Given the description of an element on the screen output the (x, y) to click on. 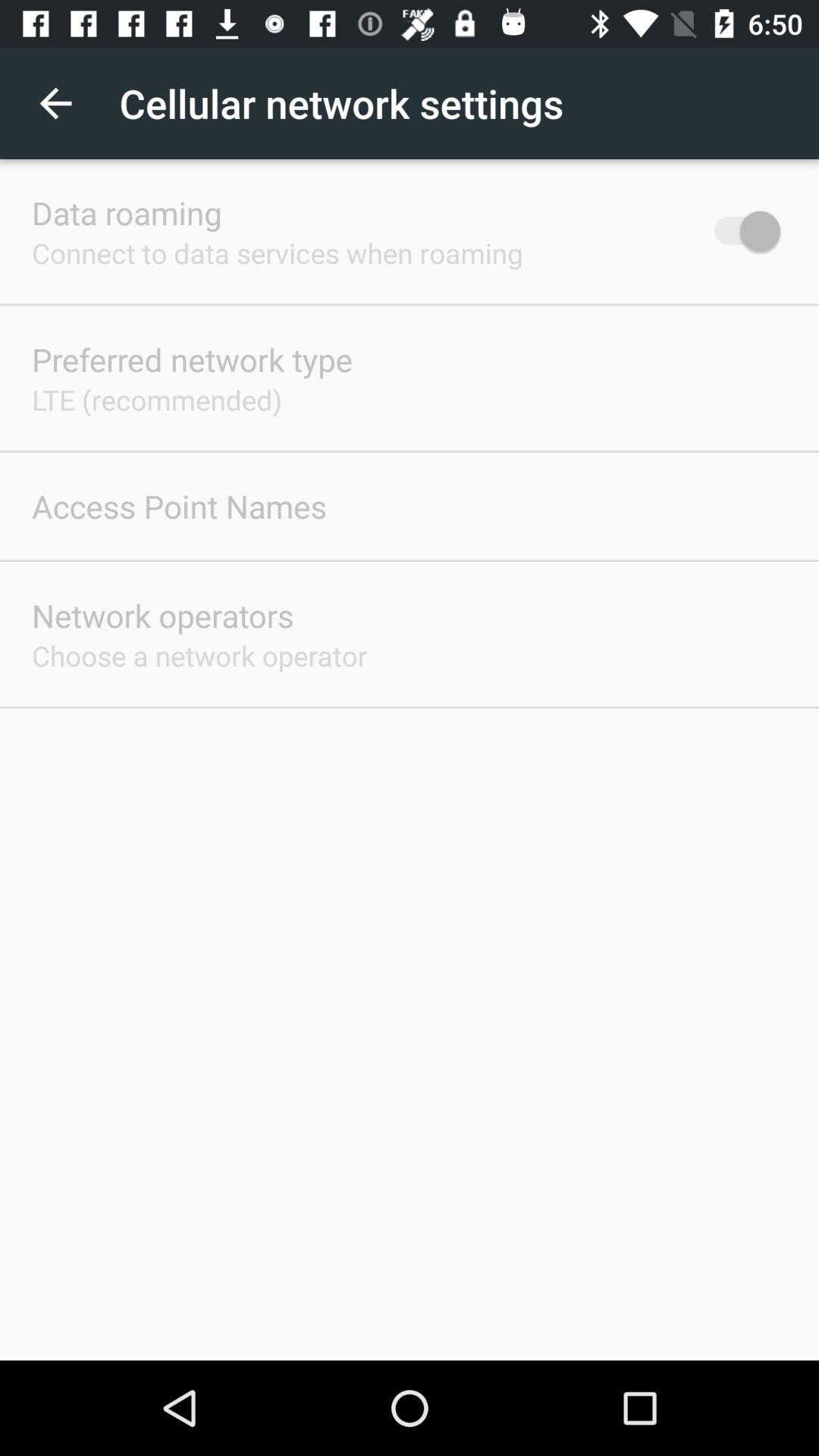
launch item below the network operators (199, 655)
